Given the description of an element on the screen output the (x, y) to click on. 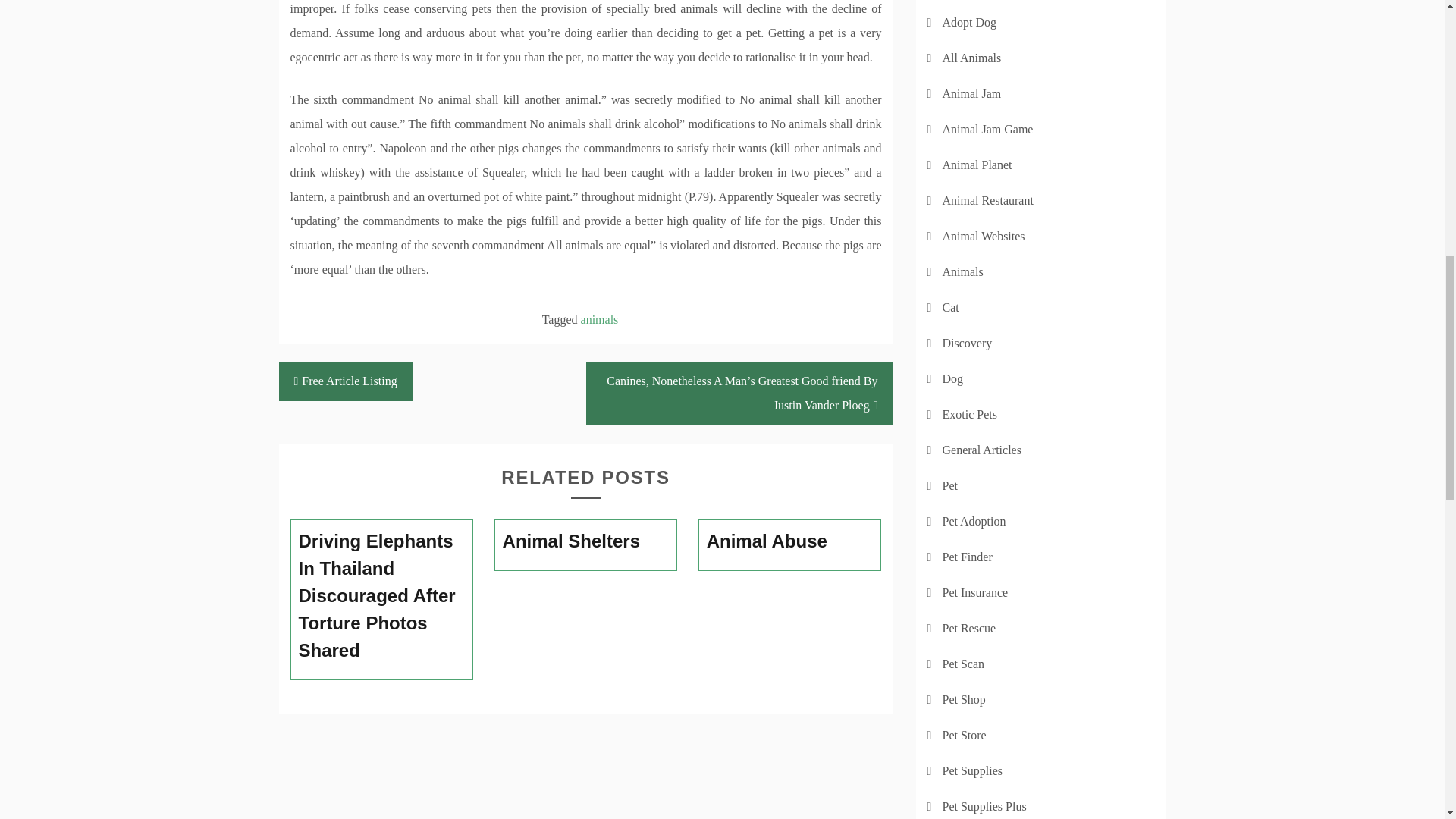
Free Article Listing (345, 381)
animals (599, 318)
Animal Shelters (585, 541)
Animal Jam Game (987, 128)
Adopt Dog (968, 21)
Animal Jam (971, 92)
All Animals (971, 57)
Animal Abuse (789, 541)
